Given the description of an element on the screen output the (x, y) to click on. 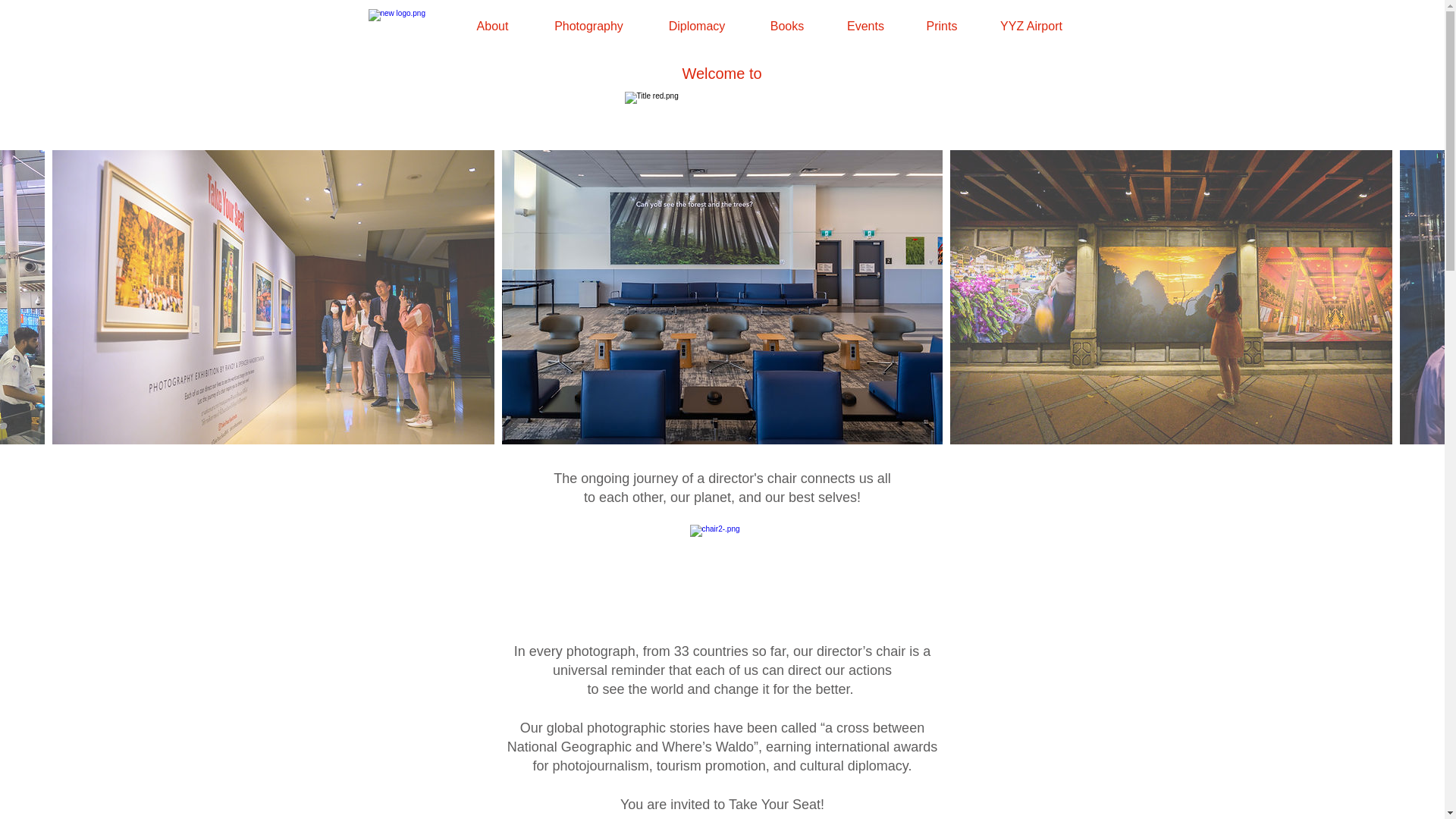
Books (786, 26)
Photography (589, 26)
Diplomacy (697, 26)
